Given the description of an element on the screen output the (x, y) to click on. 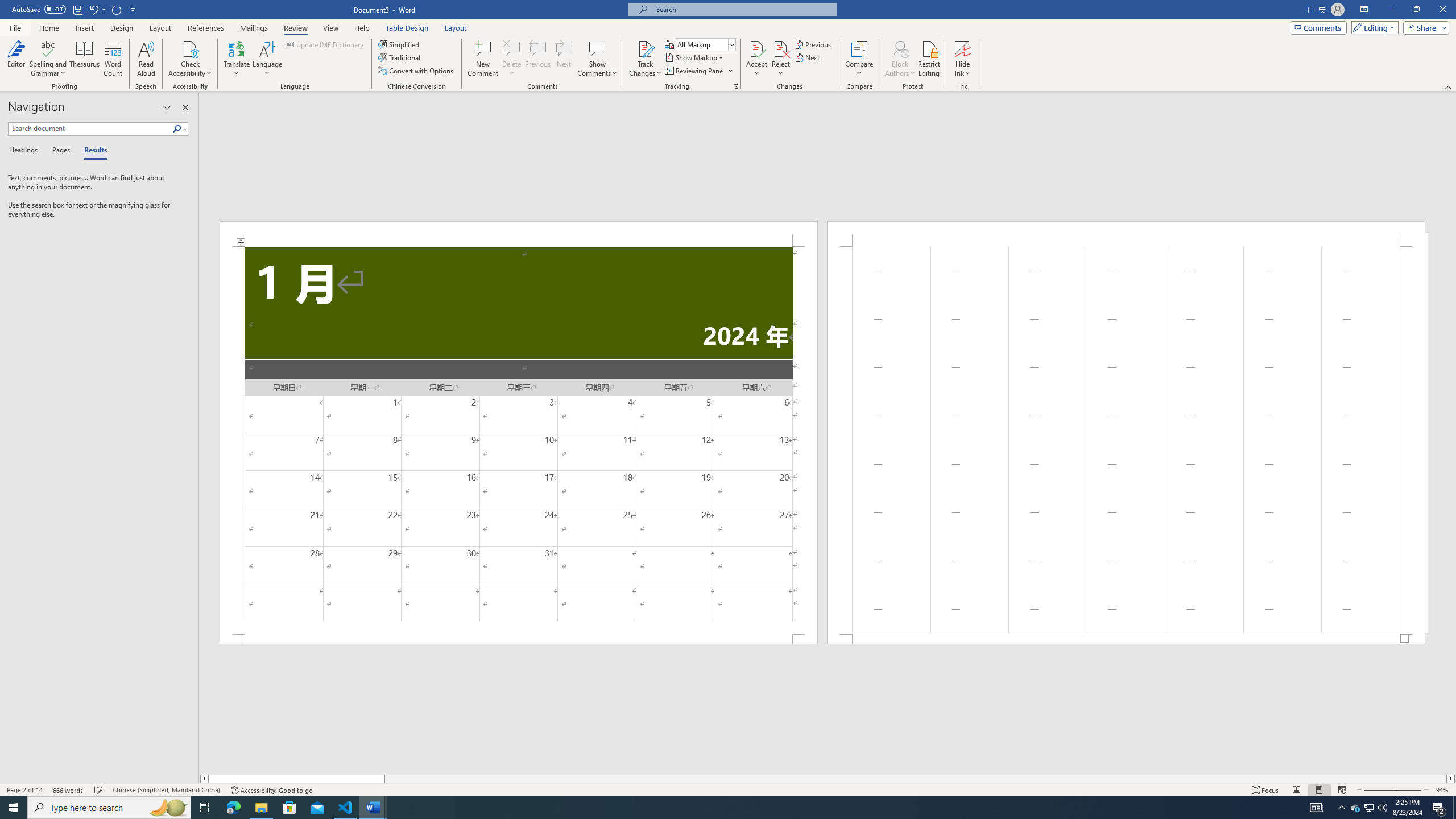
Change Tracking Options... (735, 85)
New Comment (482, 58)
Delete (511, 48)
Previous (813, 44)
Thesaurus... (84, 58)
